Given the description of an element on the screen output the (x, y) to click on. 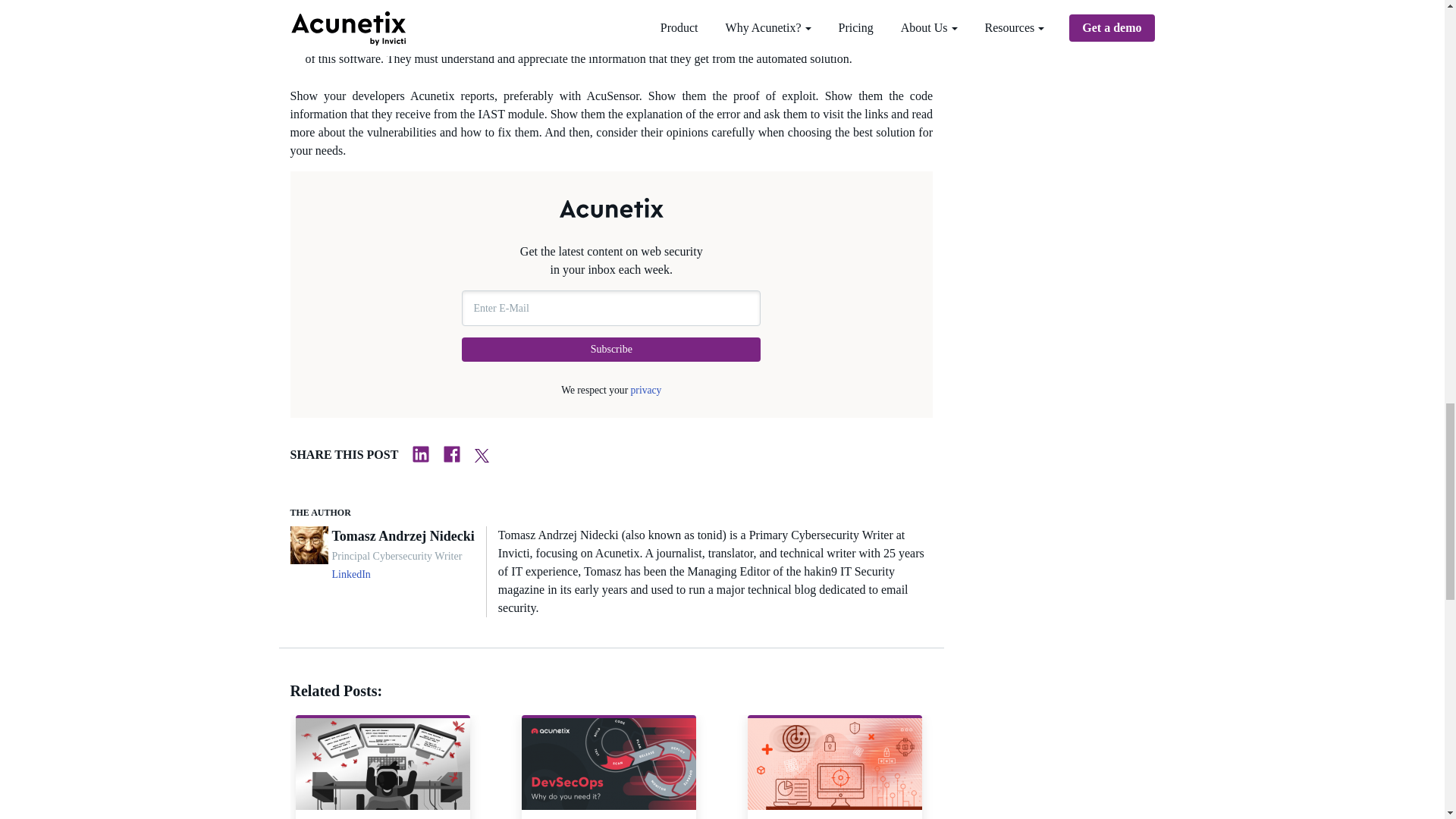
Subscribe (610, 349)
Why Developers Shun Security and What You Can Do about It (382, 763)
